Given the description of an element on the screen output the (x, y) to click on. 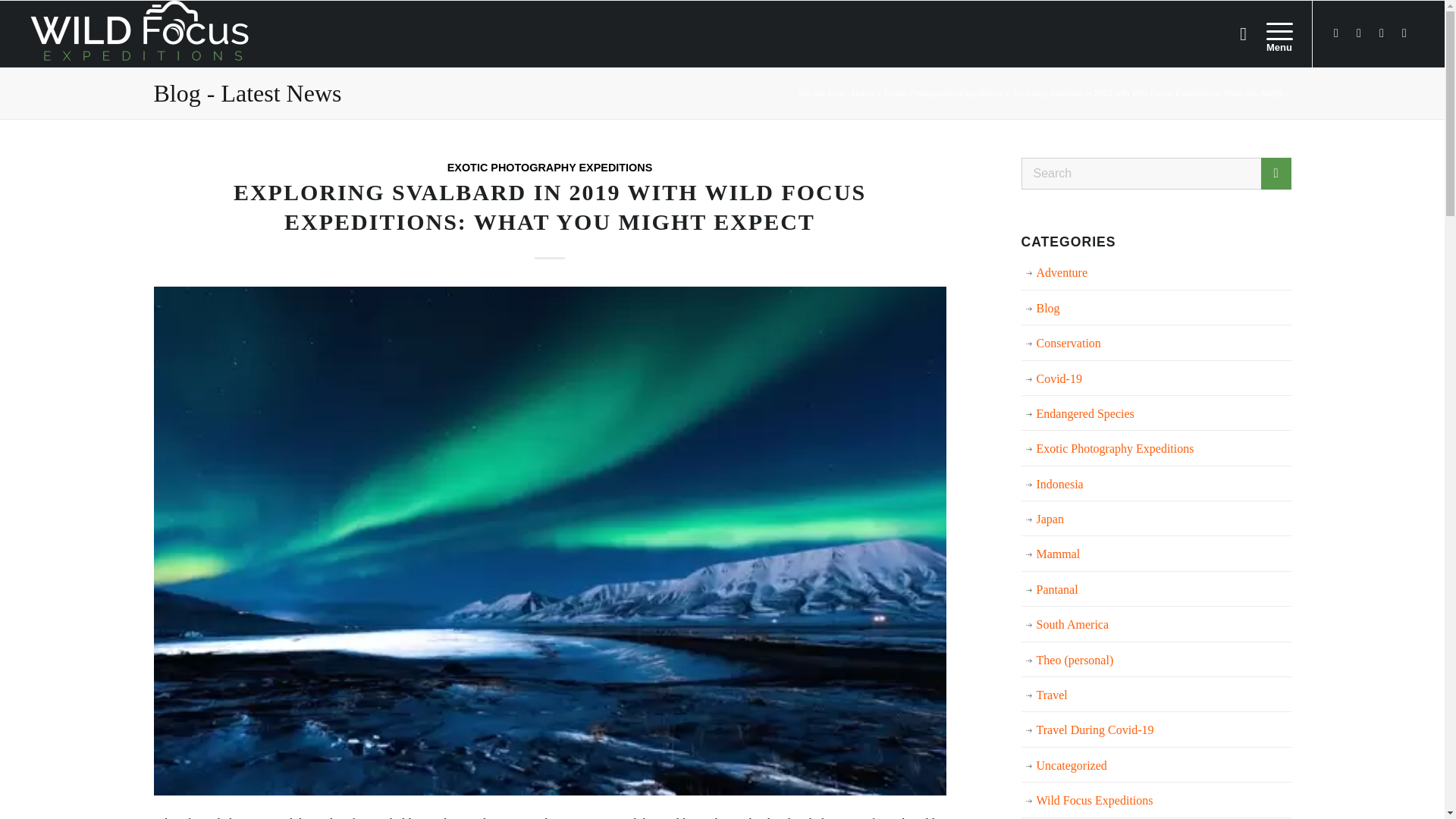
X (1359, 33)
Instagram (1381, 33)
Pinterest (1404, 33)
Permanent Link: Blog - Latest News (246, 93)
Facebook (1336, 33)
Wild Focus Expeditions (862, 93)
